Given the description of an element on the screen output the (x, y) to click on. 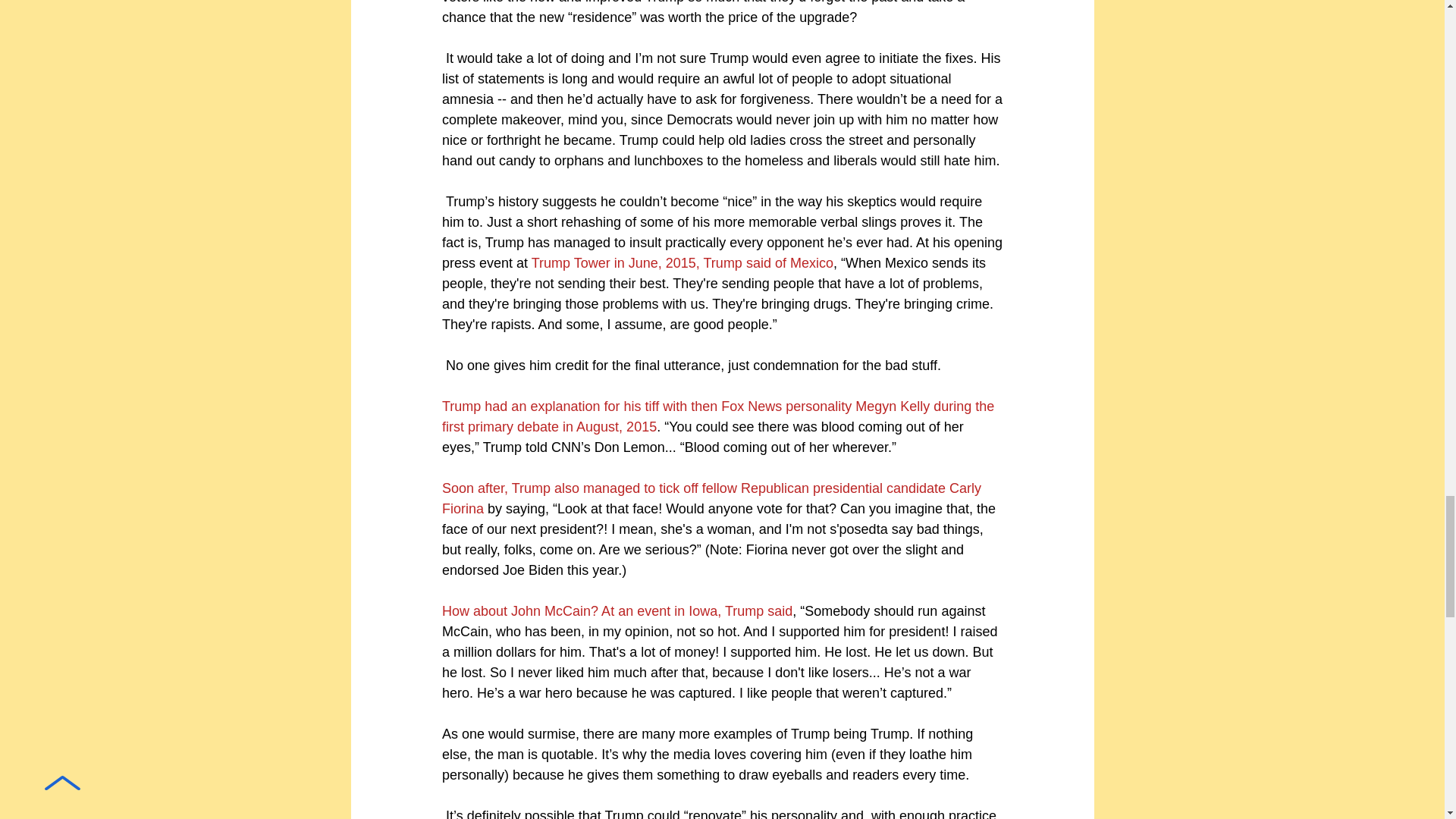
Trump Tower in June, 2015, Trump said of Mexico (681, 263)
How about John McCain? At an event in Iowa, Trump said (616, 611)
